Given the description of an element on the screen output the (x, y) to click on. 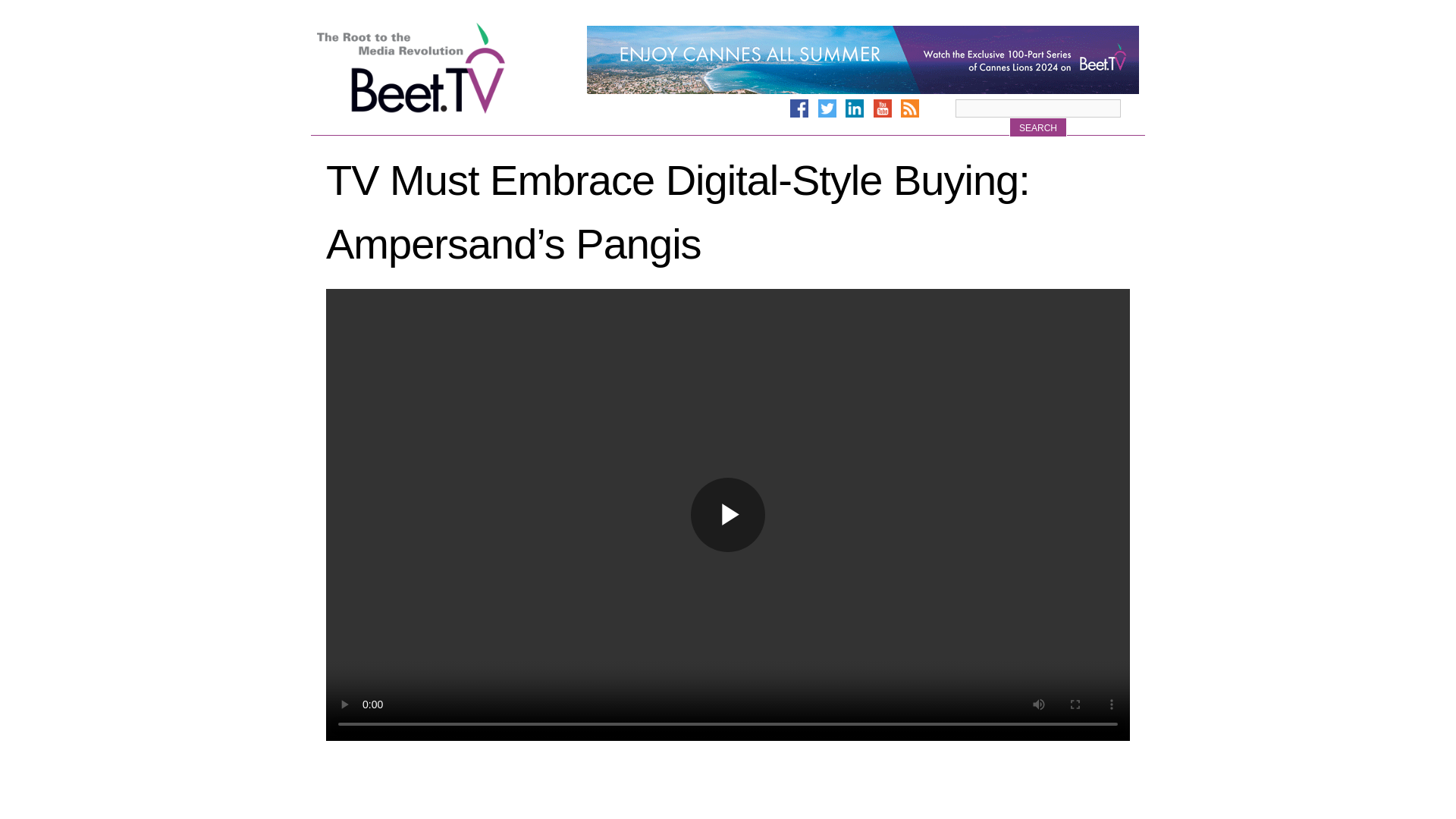
Search for: (1038, 108)
Play Video (727, 514)
Search (1038, 127)
Search (1038, 127)
Play Video (727, 514)
Search (1038, 127)
Beet.TV (449, 67)
